Given the description of an element on the screen output the (x, y) to click on. 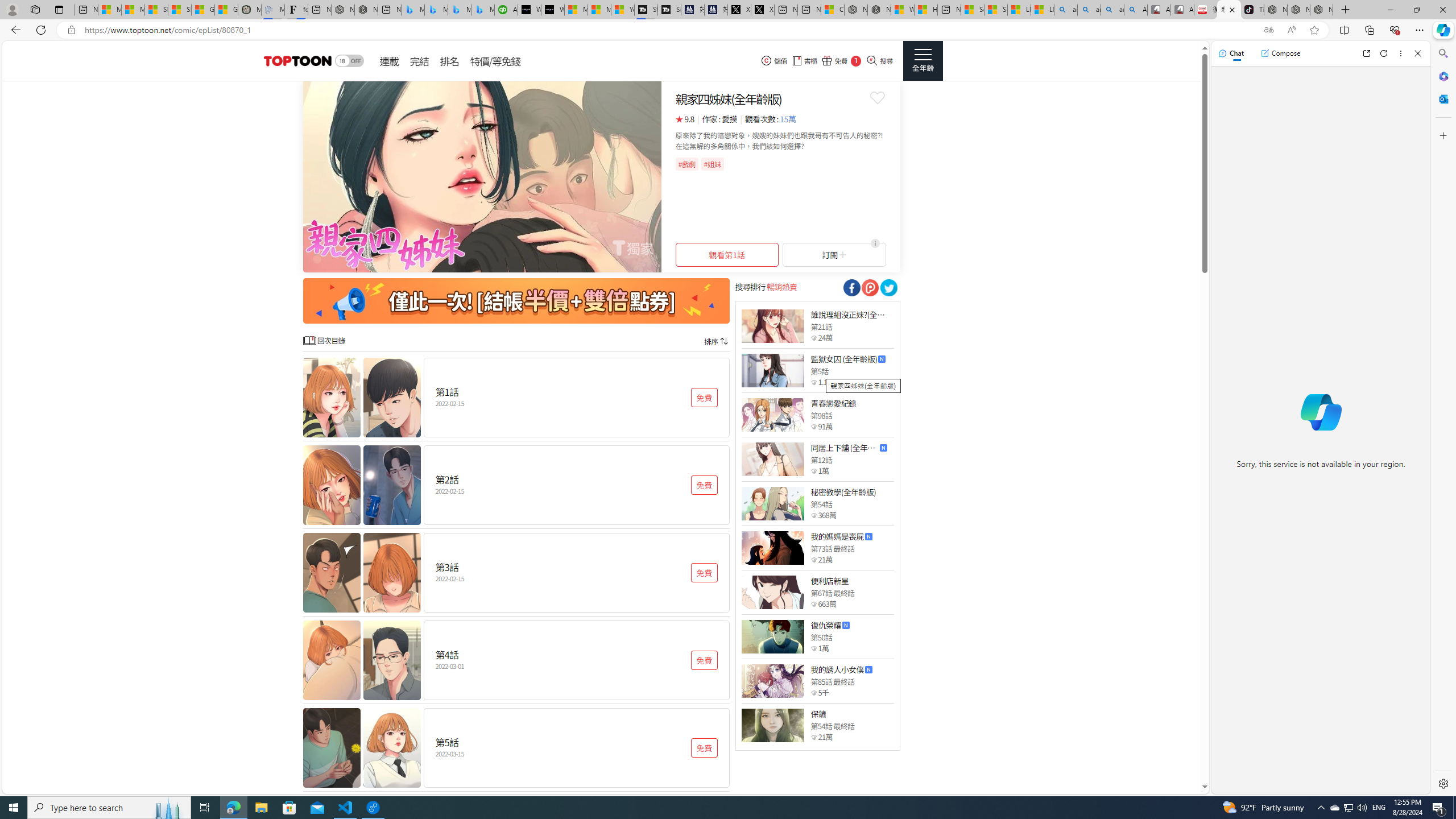
All Cubot phones (1182, 9)
Address and search bar (669, 29)
Read aloud this page (Ctrl+Shift+U) (1291, 29)
Search (1442, 53)
Class: epicon_starpoint (813, 736)
TikTok (1252, 9)
Customize (1442, 135)
